Given the description of an element on the screen output the (x, y) to click on. 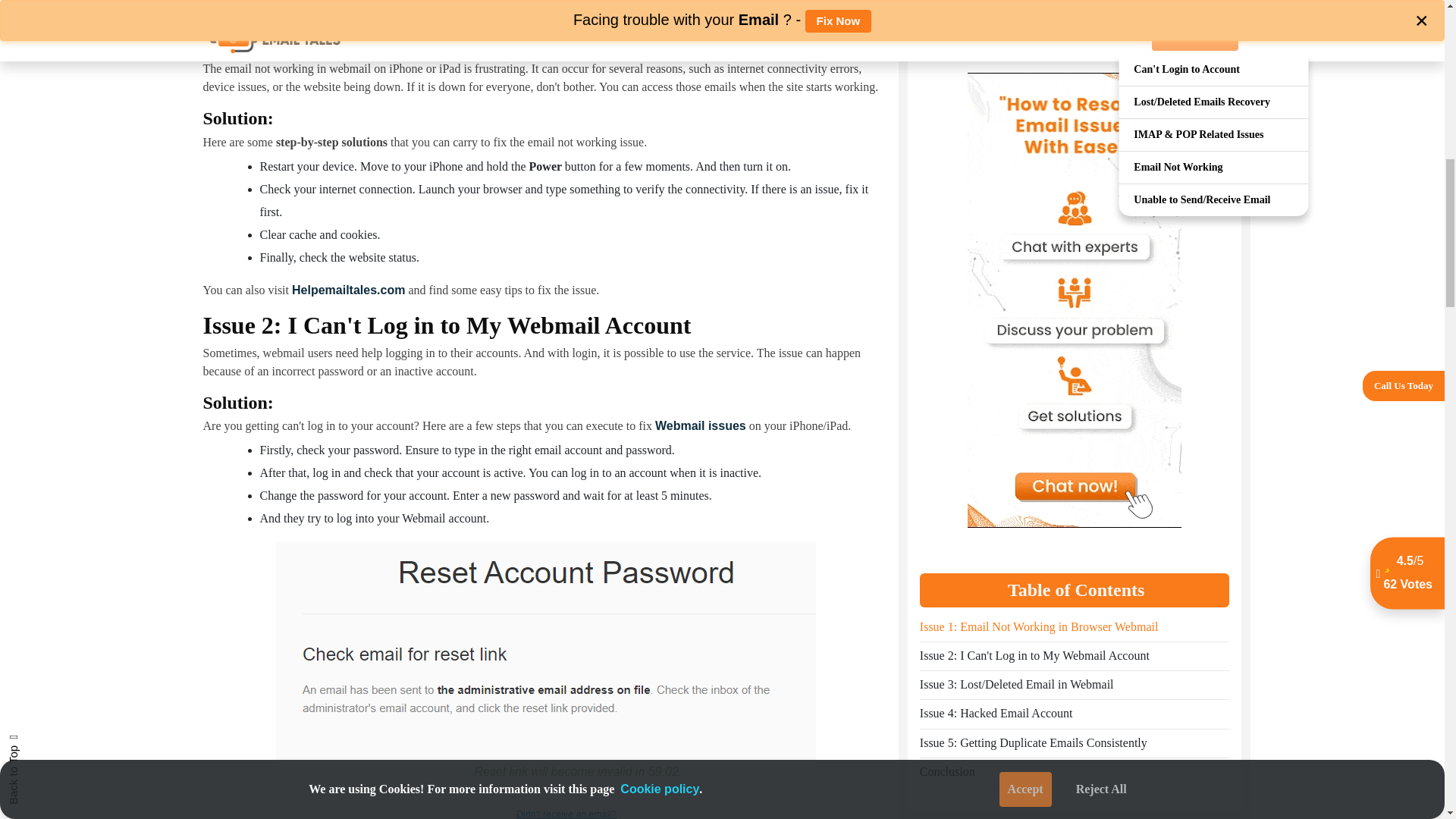
Webmail issues (700, 425)
Helpemailtales.com (348, 289)
